Given the description of an element on the screen output the (x, y) to click on. 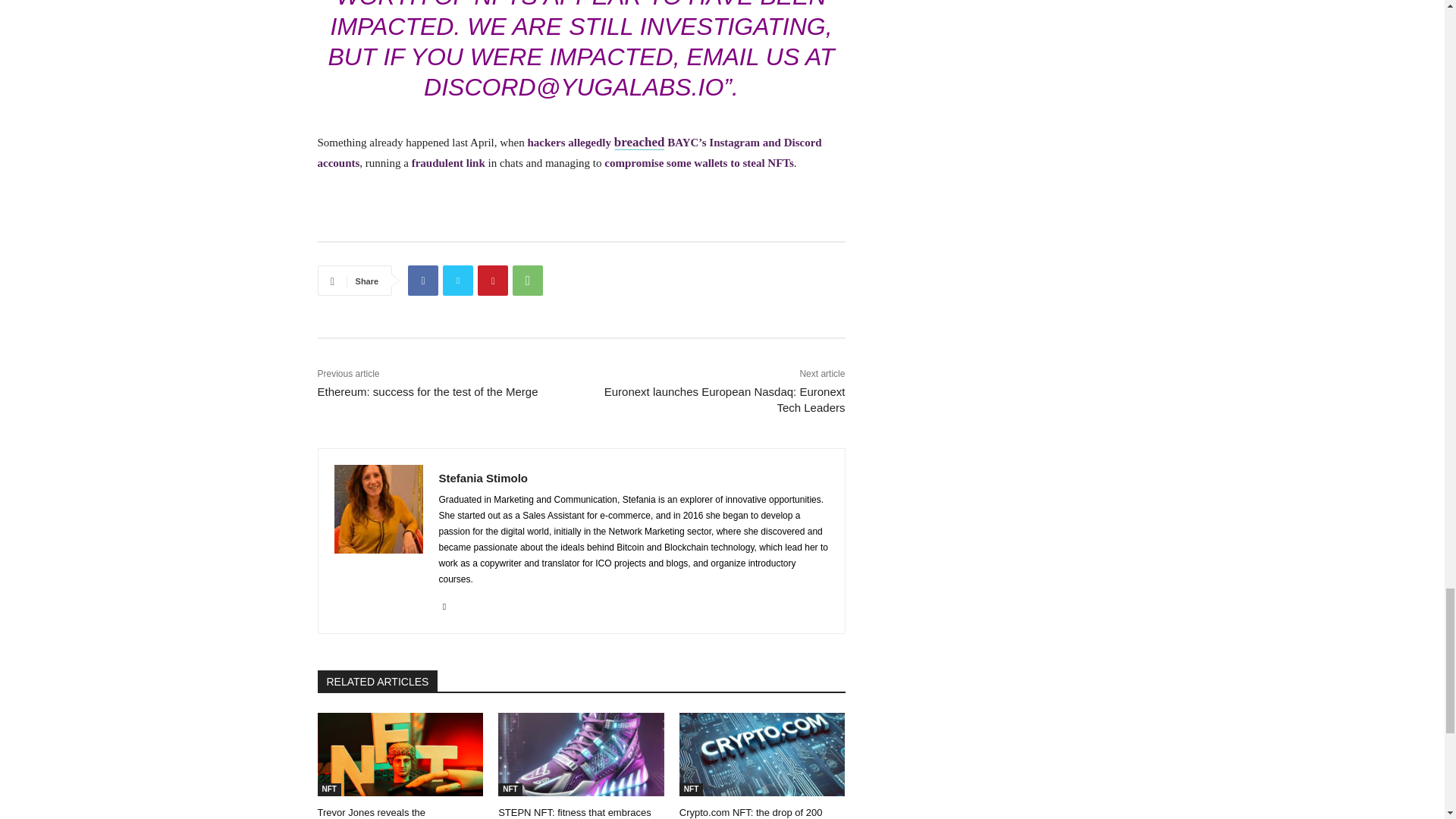
Pinterest (492, 280)
Facebook (422, 280)
Twitter (457, 280)
